Given the description of an element on the screen output the (x, y) to click on. 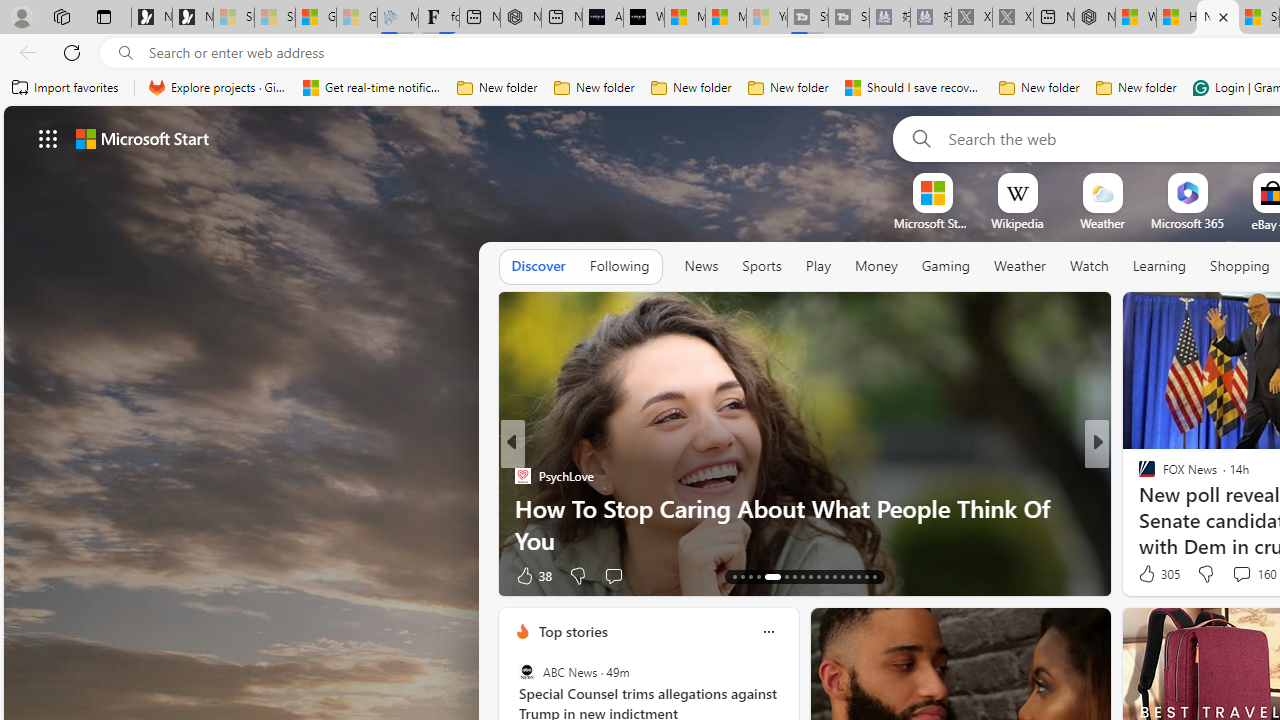
View comments 26 Comment (1237, 574)
Newsweek (1138, 475)
Liron Segev (1138, 507)
AutomationID: tab-16 (757, 576)
Cents + Purpose (1138, 507)
AutomationID: tab-17 (767, 576)
Search icon (125, 53)
View comments 5 Comment (1234, 574)
